Given the description of an element on the screen output the (x, y) to click on. 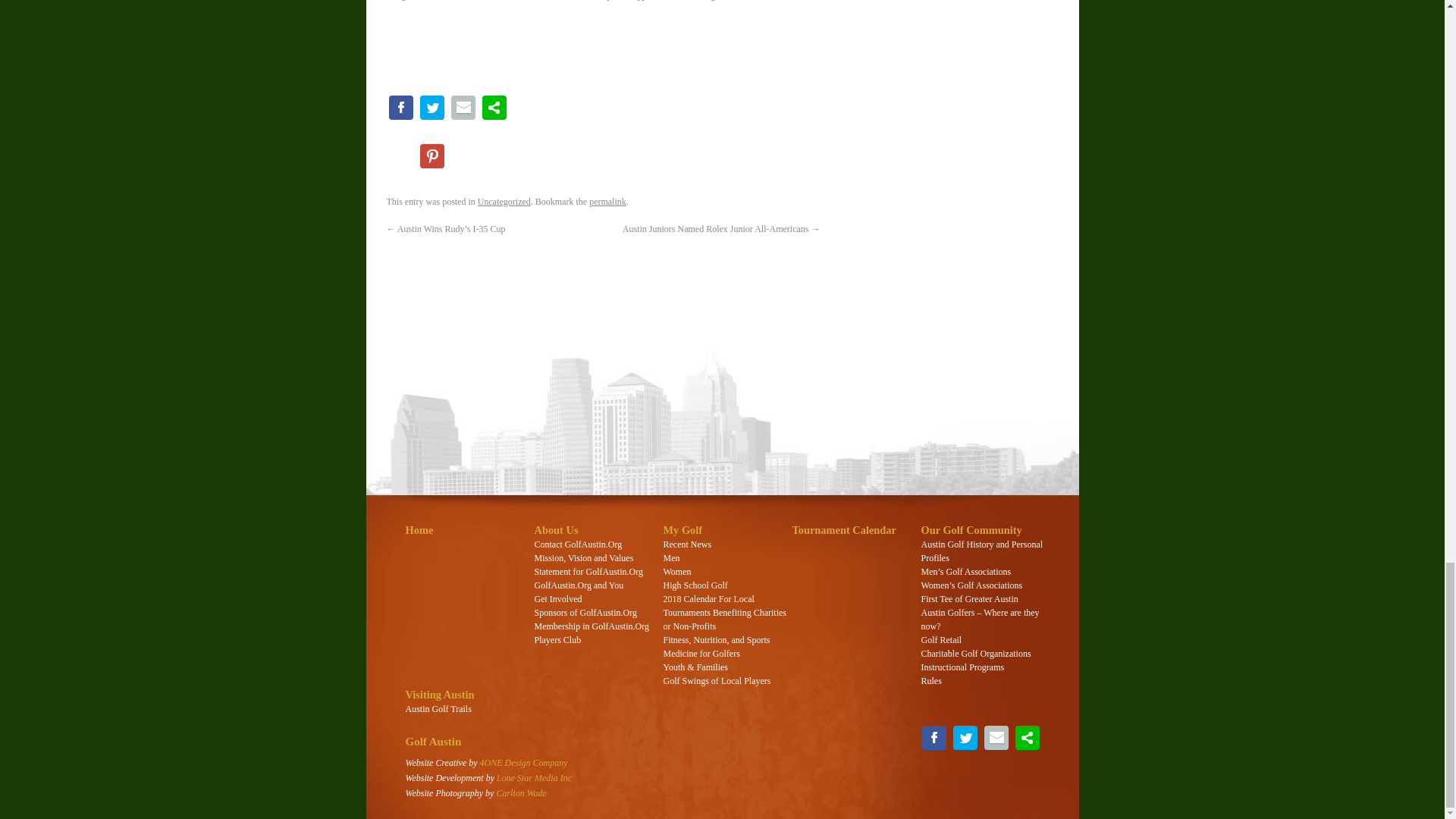
Golf Austin (432, 741)
Permalink to Kristen Gillman Honored At Spanish Oaks (607, 201)
